Given the description of an element on the screen output the (x, y) to click on. 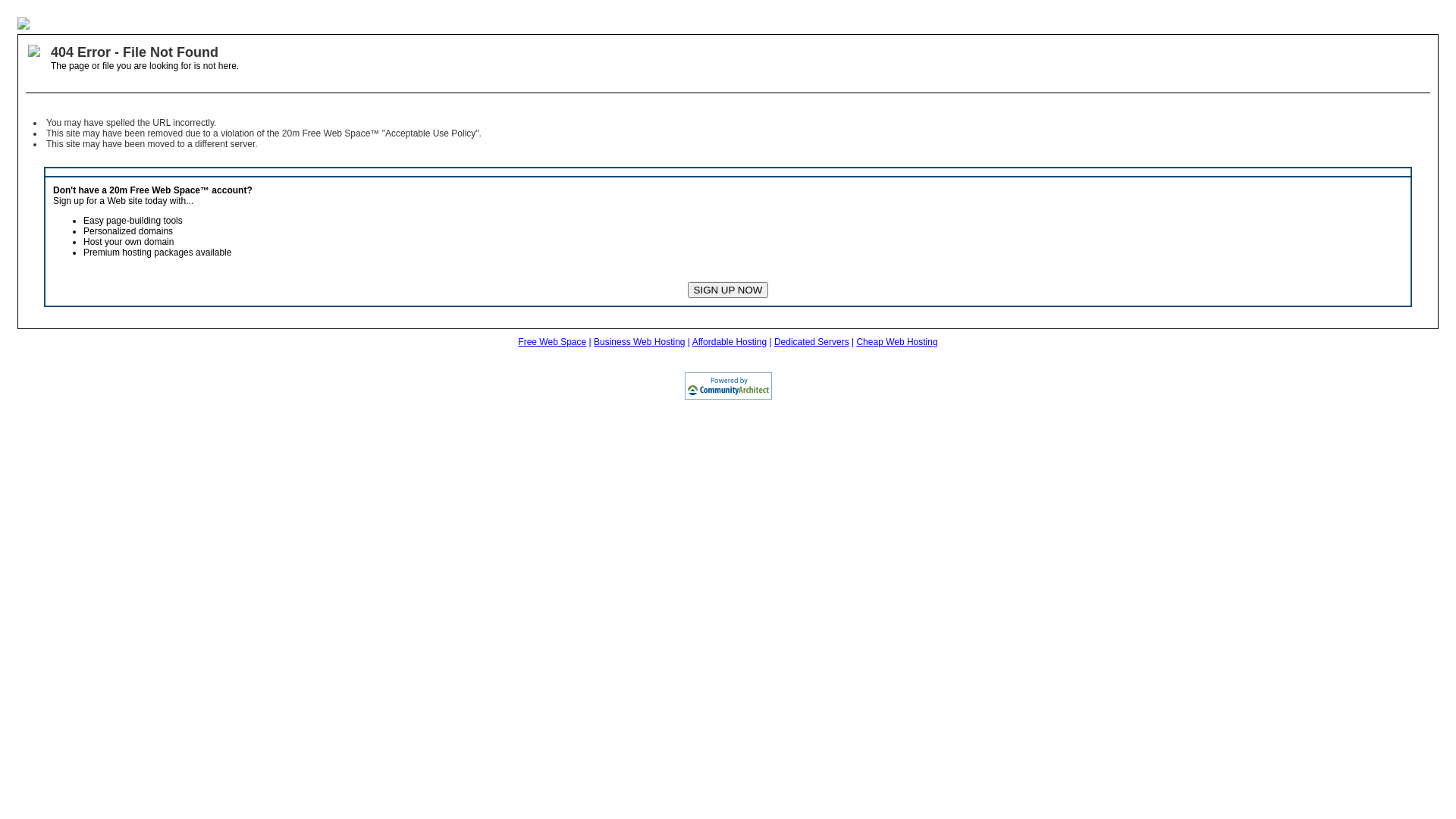
Affordable Hosting Element type: text (729, 341)
Cheap Web Hosting Element type: text (896, 341)
Business Web Hosting Element type: text (639, 341)
SIGN UP NOW Element type: text (727, 290)
Dedicated Servers Element type: text (811, 341)
Free Web Space Element type: text (551, 341)
